Given the description of an element on the screen output the (x, y) to click on. 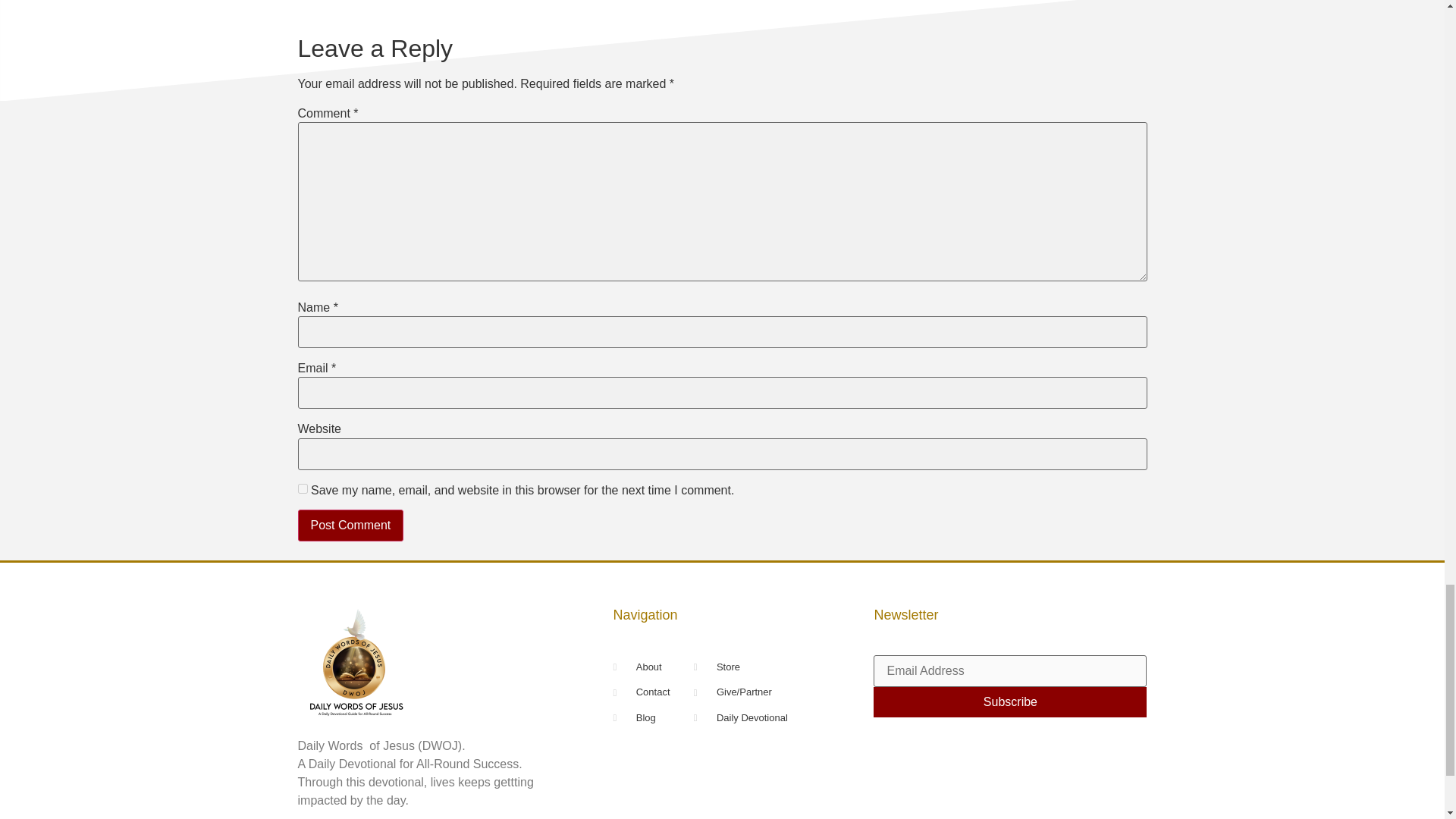
Subscribe (1010, 702)
Post Comment (350, 525)
yes (302, 488)
